Given the description of an element on the screen output the (x, y) to click on. 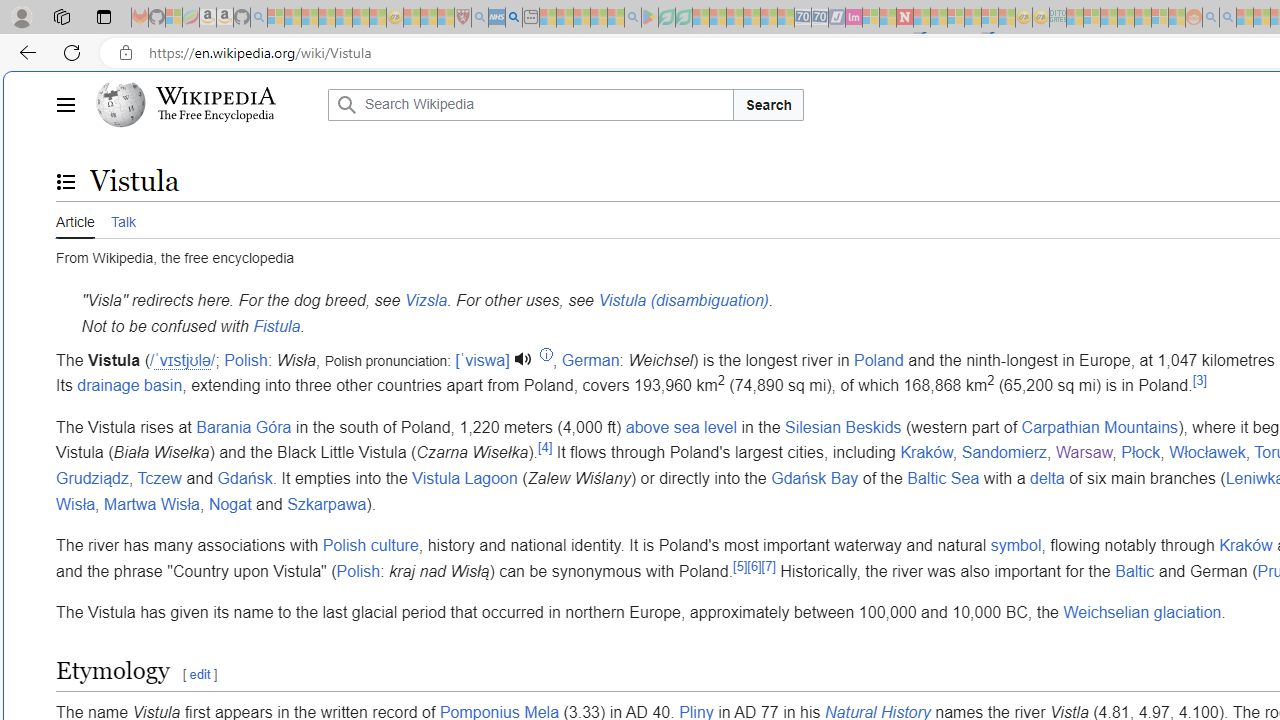
Utah sues federal government - Search - Sleeping (1227, 17)
Toggle the table of contents (65, 181)
14 Common Myths Debunked By Scientific Facts - Sleeping (938, 17)
Vistula Lagoon (465, 477)
[4] (544, 447)
Talk (122, 219)
Pets - MSN - Sleeping (598, 17)
